Given the description of an element on the screen output the (x, y) to click on. 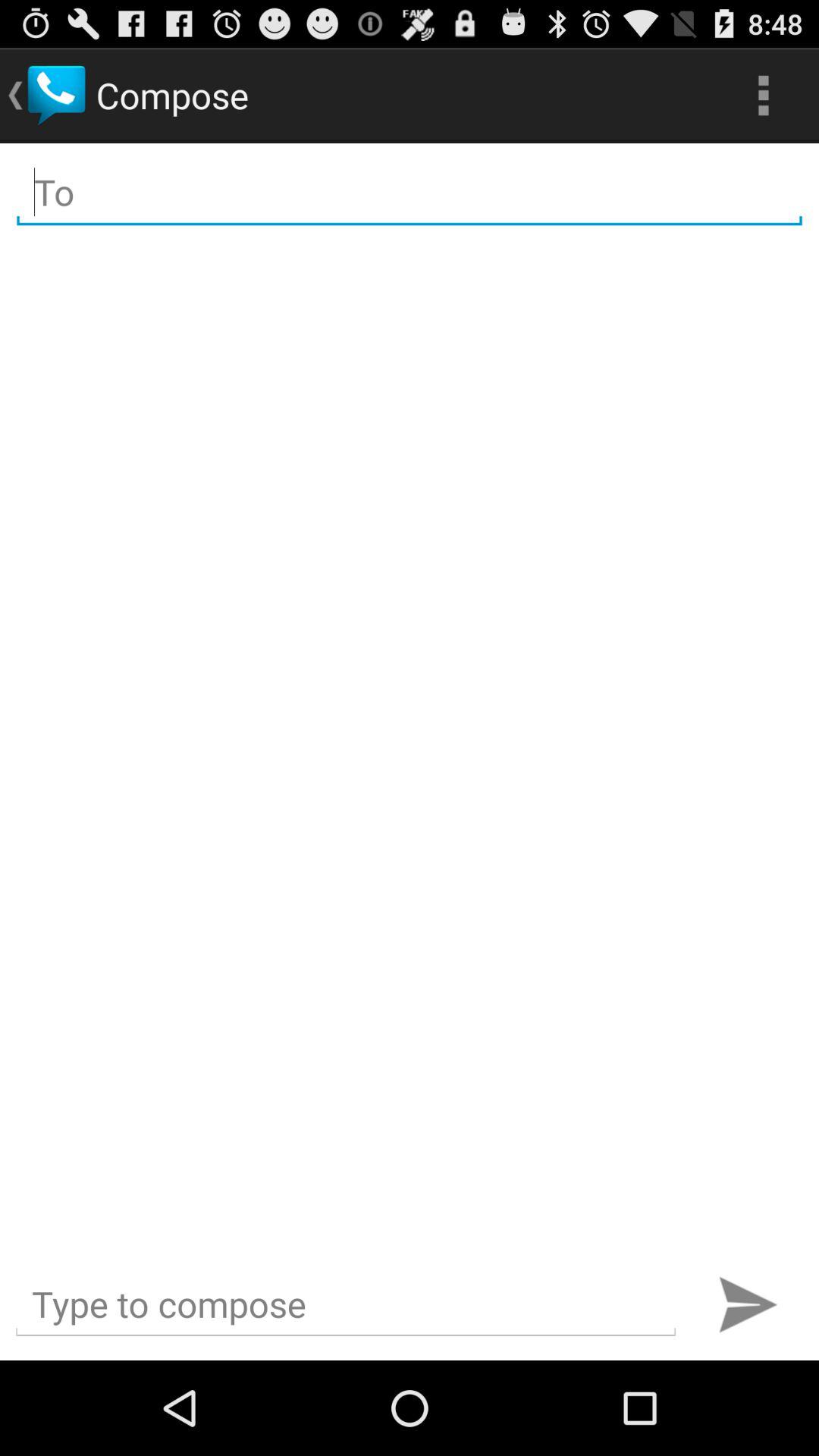
address line for message (409, 192)
